Given the description of an element on the screen output the (x, y) to click on. 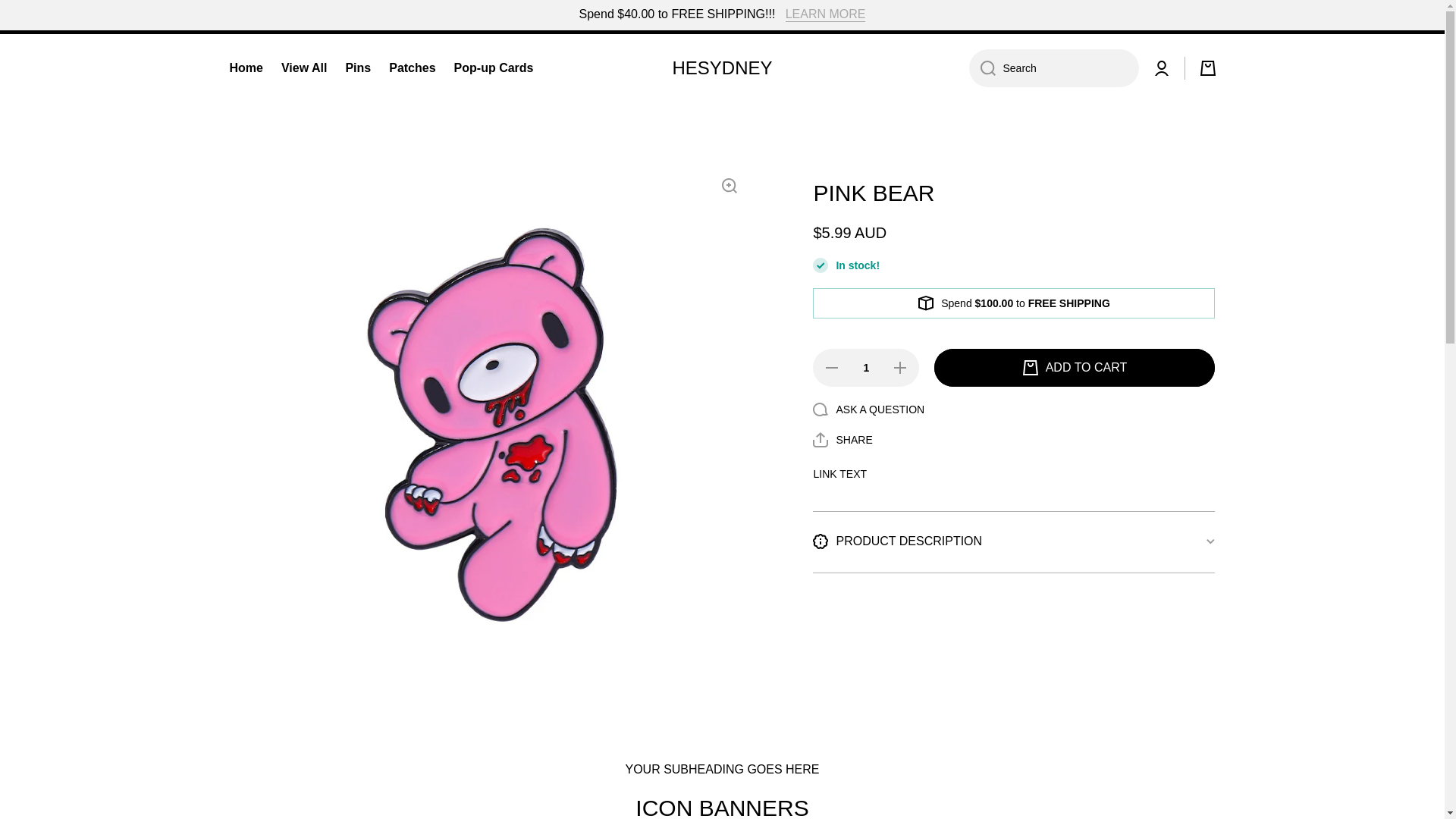
ASK A QUESTION (868, 409)
Home (245, 68)
HESYDNEY (721, 67)
Increase quantity for Pink Bear (900, 367)
1 (865, 367)
LEARN MORE (826, 14)
LINK TEXT (839, 473)
Pop-up Cards (494, 68)
ADD TO CART (1074, 367)
Log in (1161, 68)
Decrease quantity for Pink Bear (830, 367)
Pins (358, 68)
Cart (1206, 68)
Patches (411, 68)
